Given the description of an element on the screen output the (x, y) to click on. 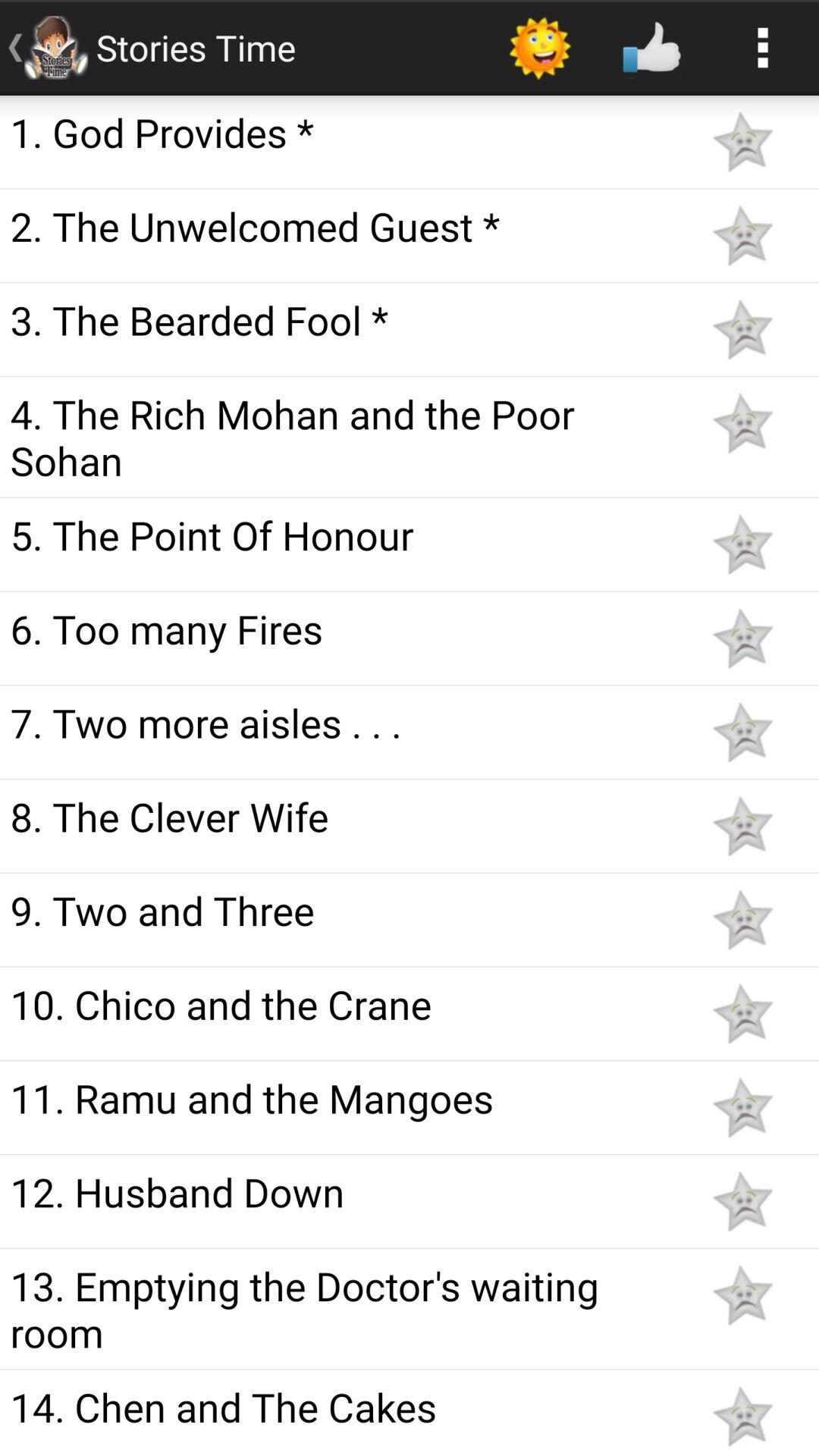
select favorite (742, 1416)
